Given the description of an element on the screen output the (x, y) to click on. 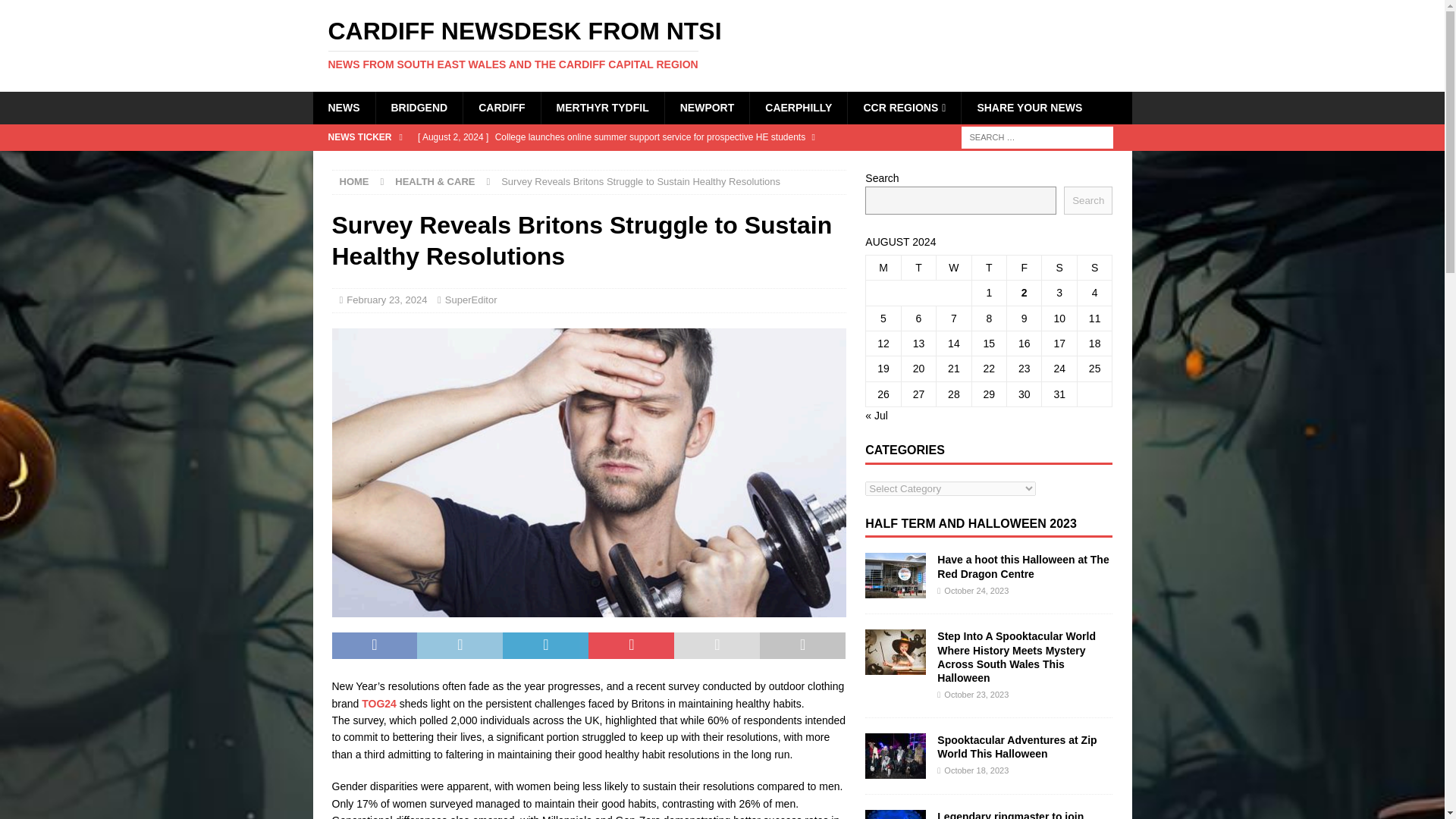
NEWPORT (706, 107)
BRIDGEND (418, 107)
CCR REGIONS (903, 107)
NEWS (343, 107)
CARDIFF (501, 107)
CAERPHILLY (798, 107)
Cardiff Newsdesk from ntsi (721, 44)
SHARE YOUR NEWS (1028, 107)
MERTHYR TYDFIL (601, 107)
